Given the description of an element on the screen output the (x, y) to click on. 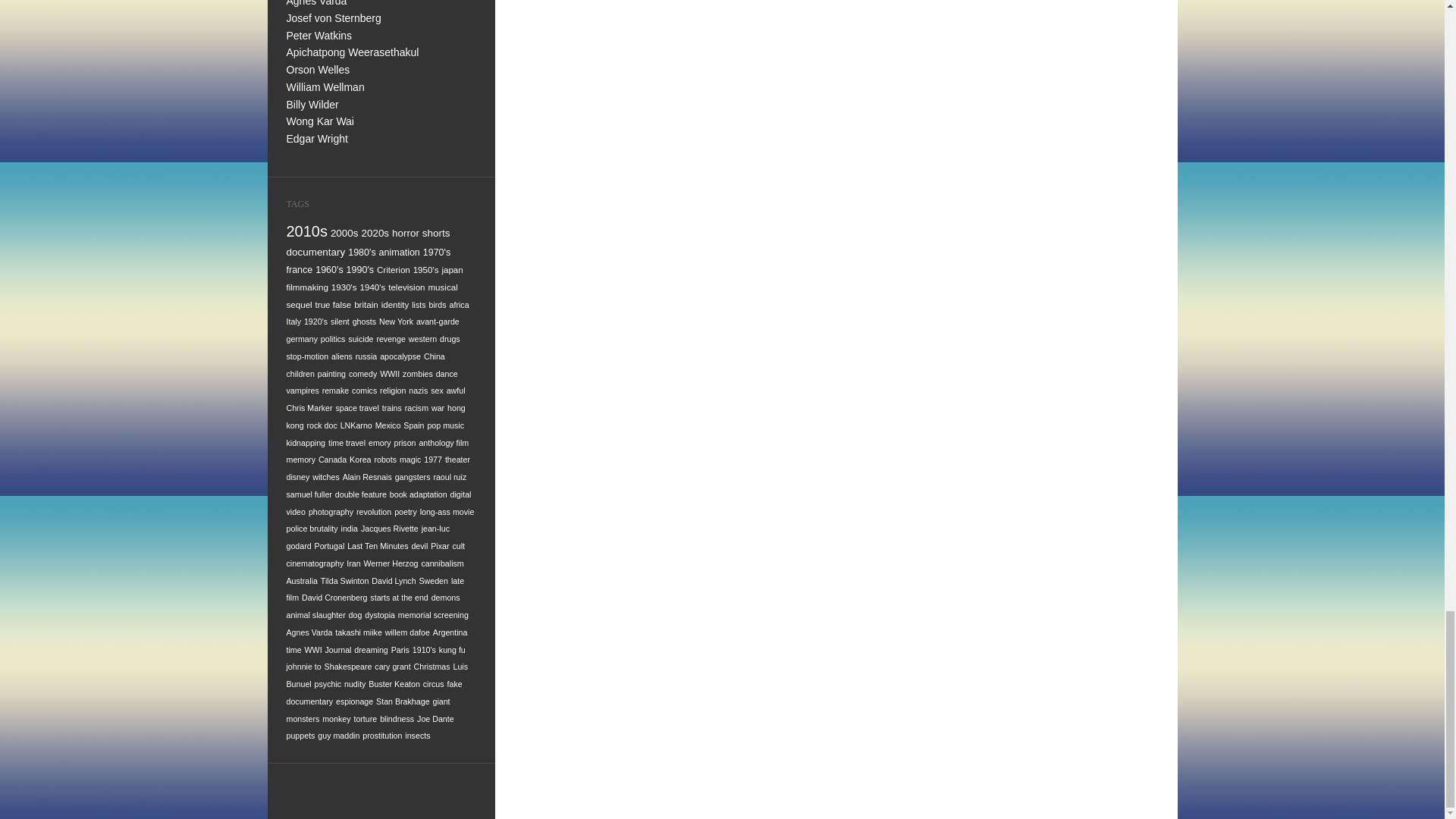
319 topics (316, 251)
171 topics (452, 269)
208 topics (393, 269)
243 topics (360, 269)
352 topics (344, 233)
338 topics (405, 233)
270 topics (437, 252)
324 topics (435, 233)
196 topics (426, 269)
163 topics (307, 286)
345 topics (374, 233)
250 topics (329, 269)
277 topics (399, 252)
288 topics (361, 252)
254 topics (299, 269)
